Given the description of an element on the screen output the (x, y) to click on. 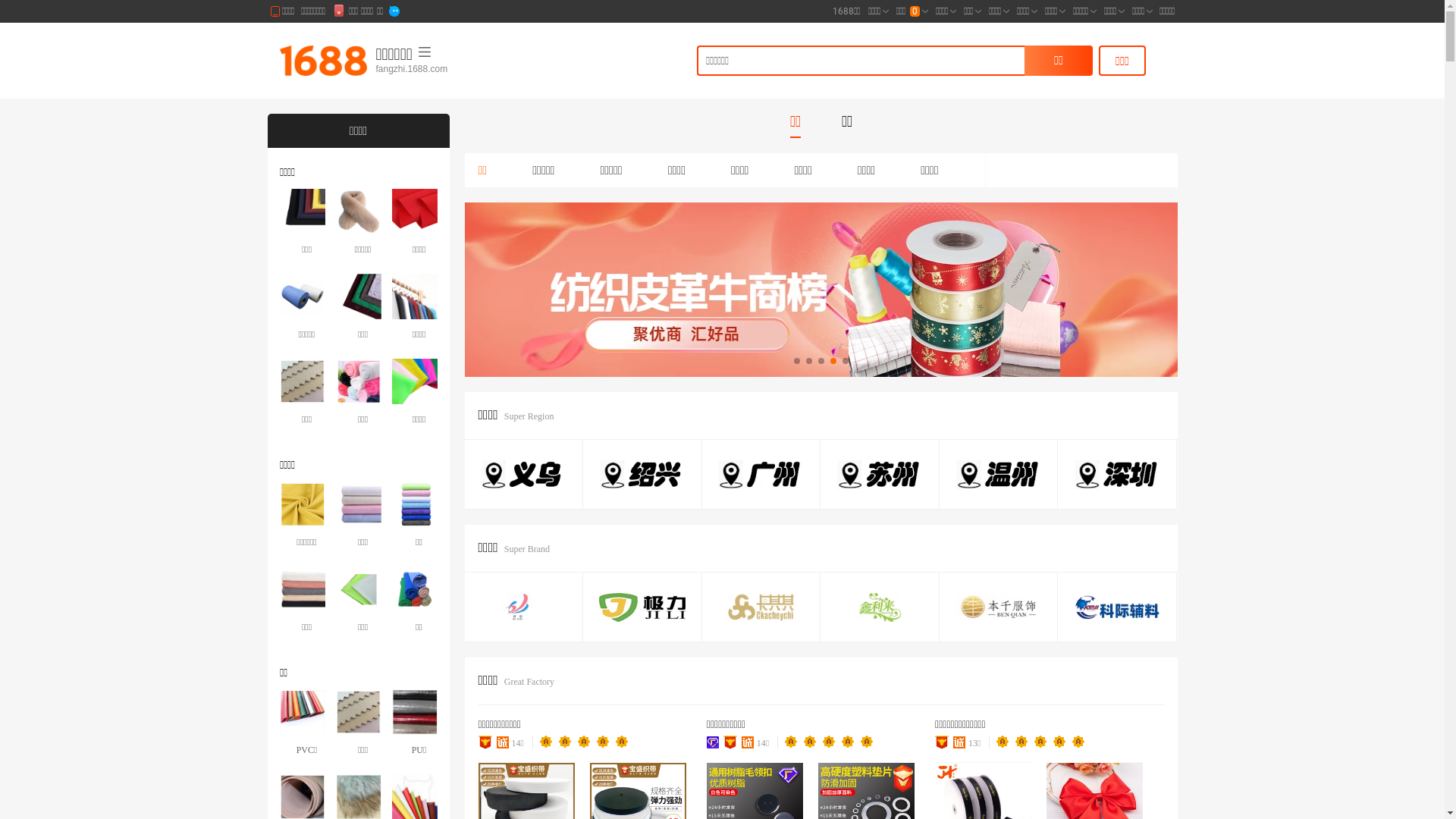
fangzhi.1688.com Element type: text (451, 69)
